Given the description of an element on the screen output the (x, y) to click on. 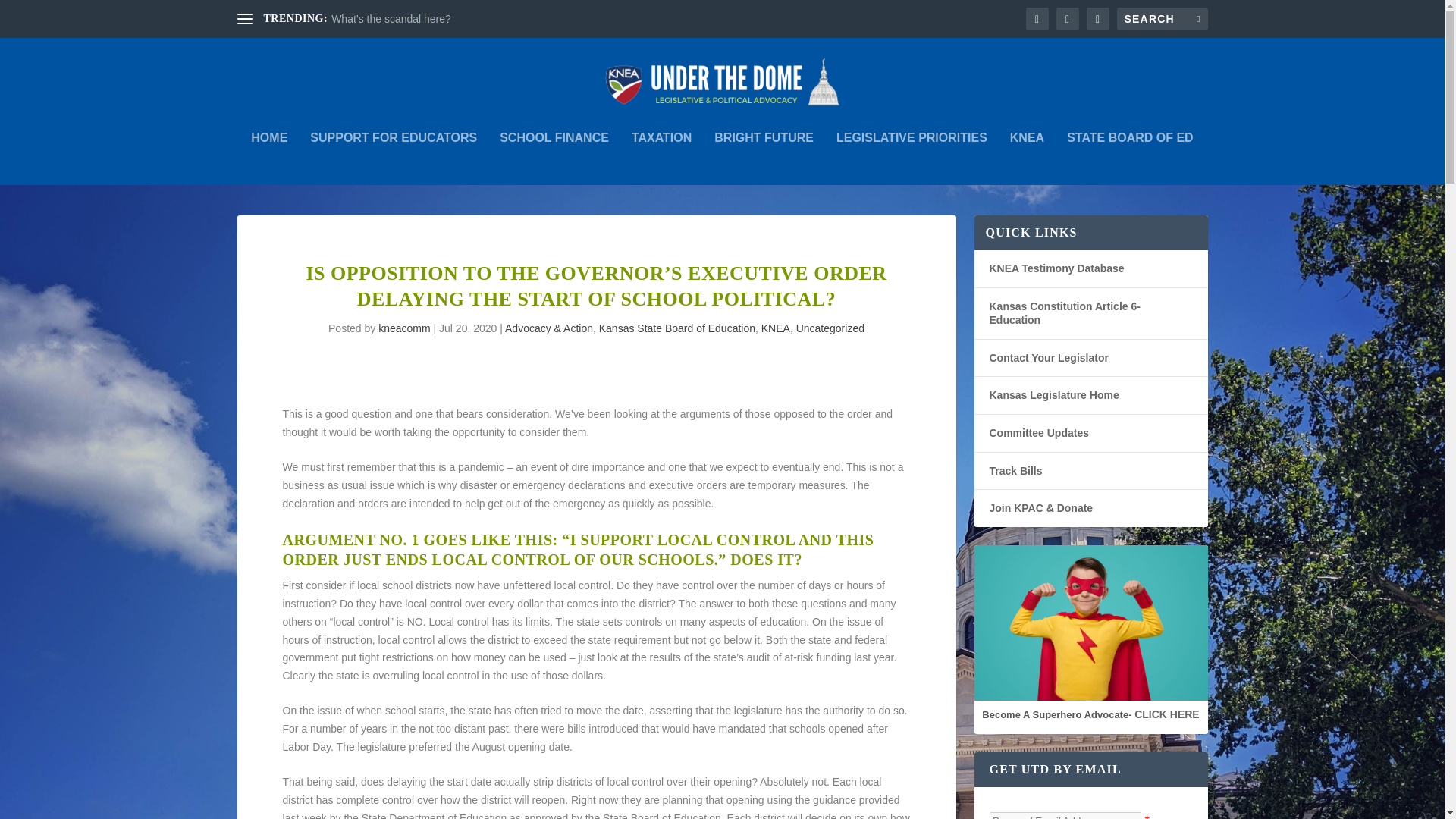
Uncategorized (830, 328)
LEGISLATIVE PRIORITIES (911, 158)
SUPPORT FOR EDUCATORS (393, 158)
BRIGHT FUTURE (763, 158)
SCHOOL FINANCE (553, 158)
Kansas State Board of Education (676, 328)
Search for: (1161, 18)
KNEA (775, 328)
Posts by kneacomm (403, 328)
TAXATION (661, 158)
kneacomm (403, 328)
STATE BOARD OF ED (1130, 158)
